Given the description of an element on the screen output the (x, y) to click on. 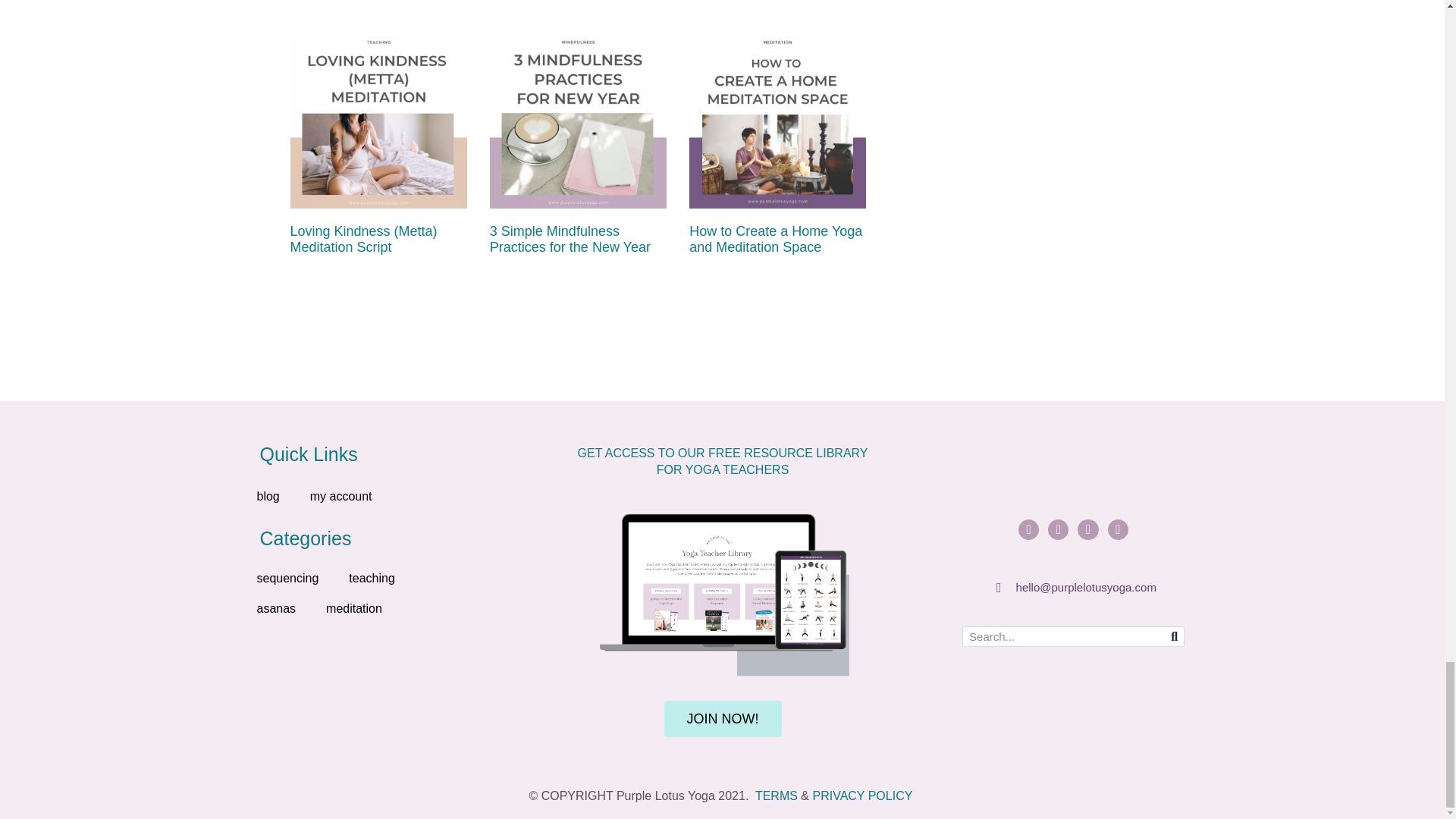
How to Create a Home Yoga and Meditation Space (774, 239)
3 Simple Mindfulness Practices for the New Year (569, 239)
sequencing (287, 578)
my account (341, 496)
blog (267, 496)
